Given the description of an element on the screen output the (x, y) to click on. 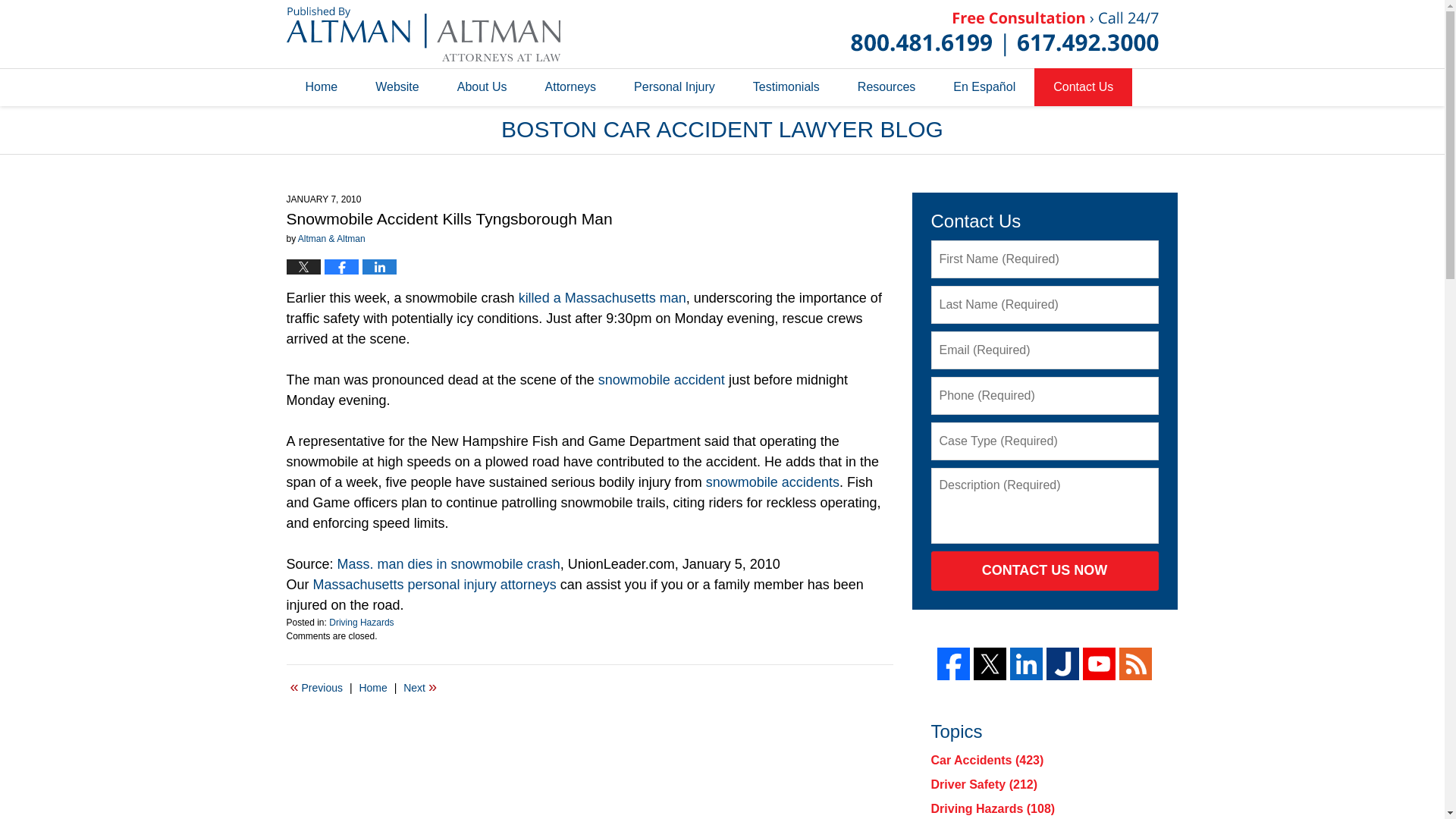
snowmobile accident (661, 379)
Website (397, 86)
killed a Massachusetts man (601, 297)
Feed (1135, 663)
Mass. man dies in snowmobile crash (448, 563)
Resources (886, 86)
View all posts in Driving Hazards (361, 622)
Home (372, 687)
Facebook (953, 663)
Twitter (990, 663)
Driving Hazards (361, 622)
CONTACT US NOW (1044, 570)
About Us (481, 86)
YouTube (1099, 663)
